Given the description of an element on the screen output the (x, y) to click on. 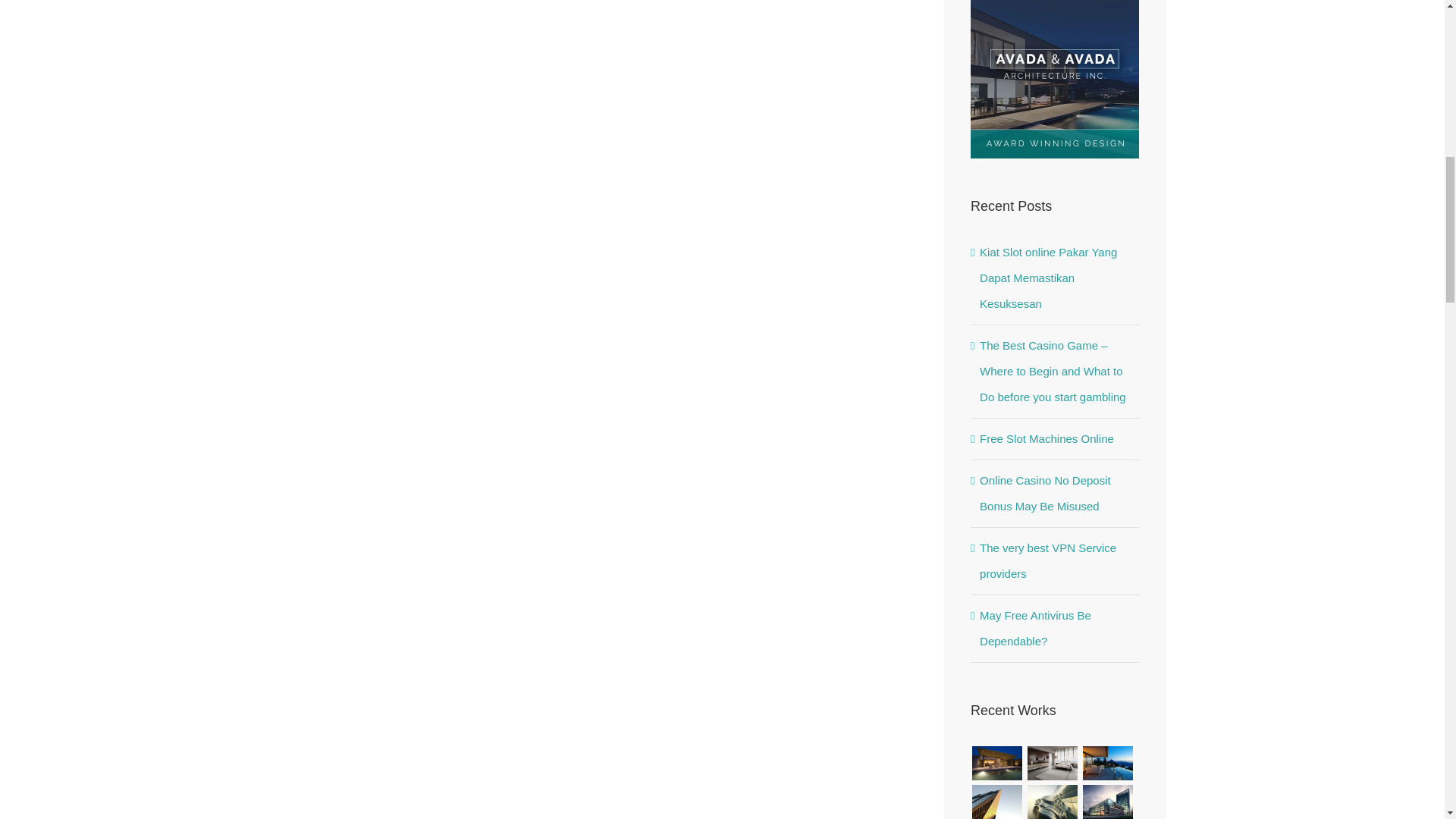
Singapore Skyrise (1052, 762)
West Shinjuku (1052, 800)
Danish Modernity (997, 800)
Sunrise Avenue (997, 762)
St Lucia Sunsets (1107, 762)
Manchester Airport (1107, 800)
